Given the description of an element on the screen output the (x, y) to click on. 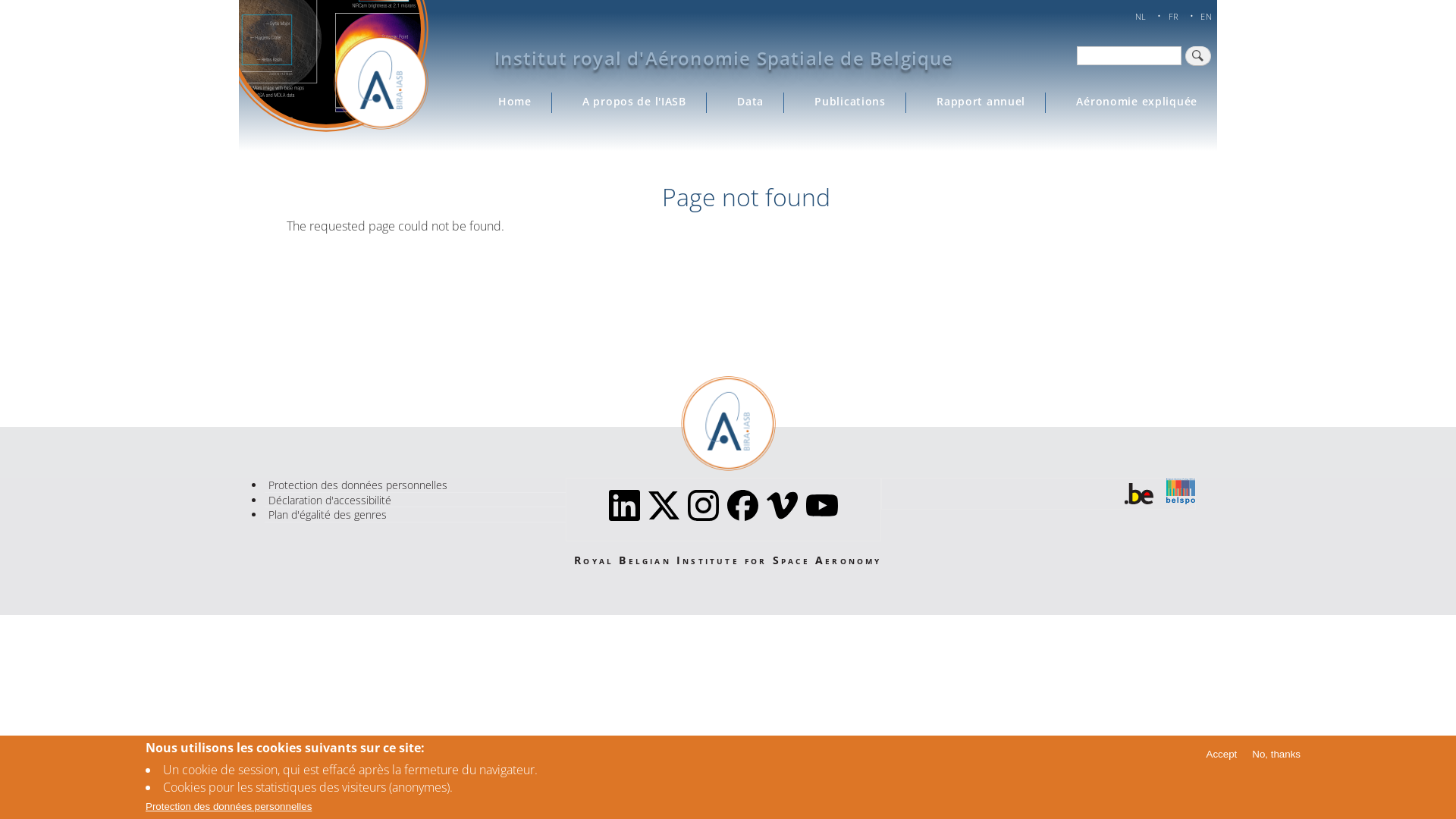
Rapport annuel Element type: text (981, 100)
FR Element type: text (1173, 15)
A propos de l'IASB Element type: text (633, 100)
Accept Element type: text (1221, 753)
Data Element type: text (750, 100)
Skip to main content Element type: text (0, 1)
EN Element type: text (1205, 15)
Publications Element type: text (850, 100)
NL Element type: text (1140, 15)
Home Element type: text (514, 100)
Enter the terms you wish to search for. Element type: hover (1128, 55)
Search Element type: text (1198, 55)
No, thanks Element type: text (1275, 753)
